Given the description of an element on the screen output the (x, y) to click on. 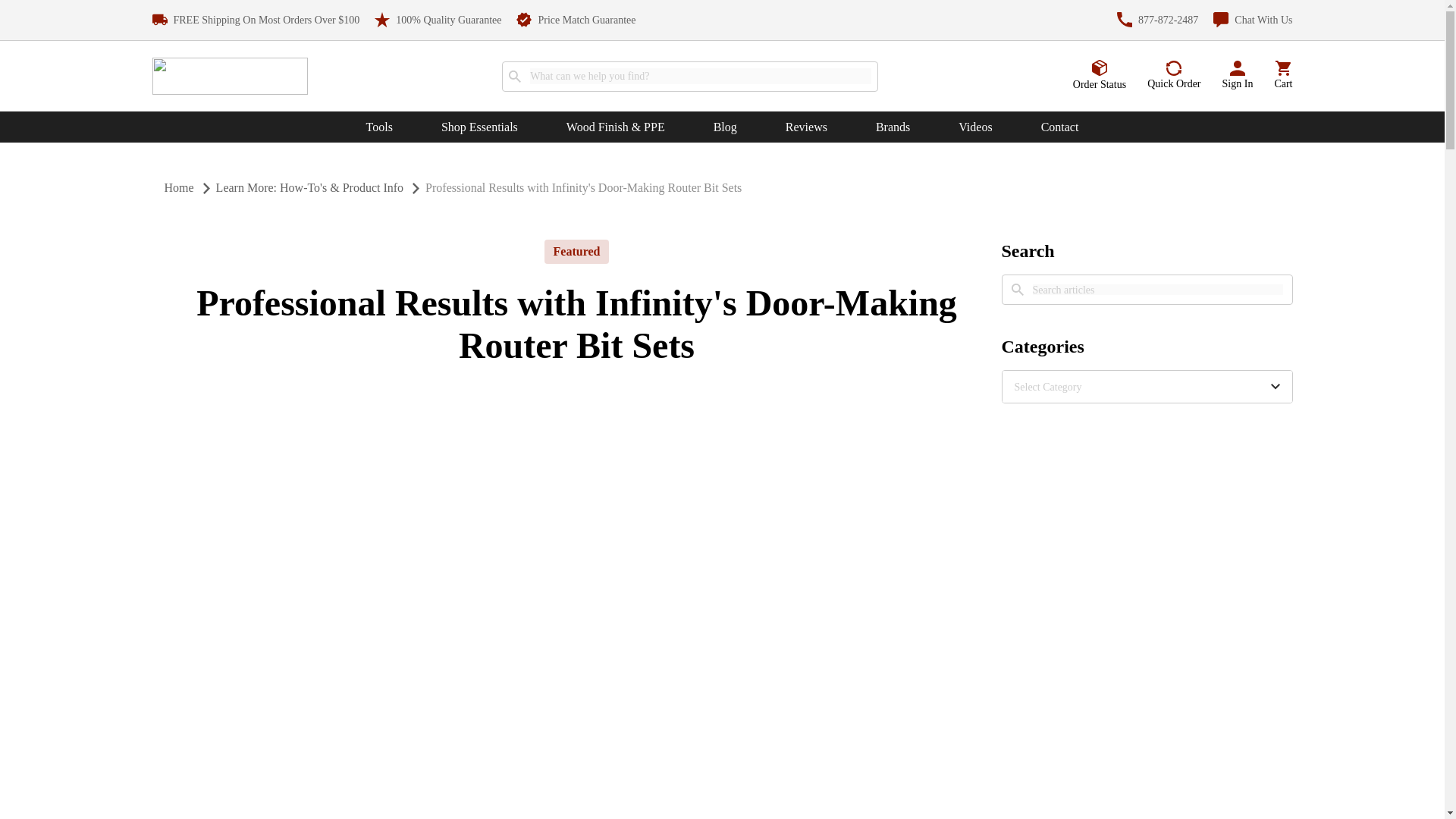
Chat With Us (1252, 19)
Order Status (1099, 75)
Quick Order (1173, 75)
Sign In (1238, 75)
877-872-2487 (1157, 19)
Tools (379, 126)
